Given the description of an element on the screen output the (x, y) to click on. 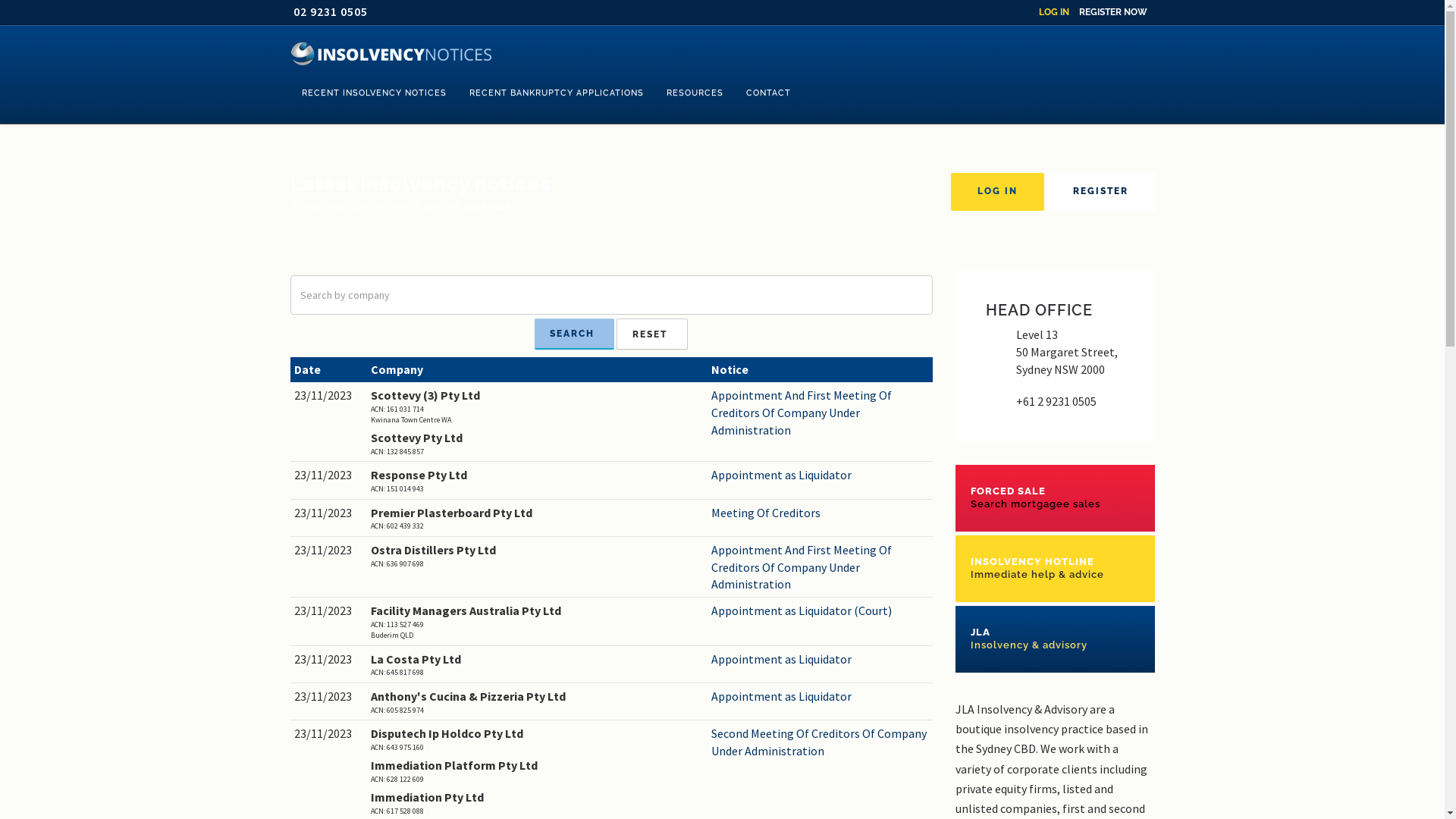
23/11/2023 Element type: text (329, 549)
Anthony's Cucina & Pizzeria Pty Ltd
ACN: 605 825 974 Element type: text (536, 701)
Appointment as Liquidator (Court) Element type: text (819, 610)
Second Meeting Of Creditors Of Company Under Administration Element type: text (819, 741)
REGISTER NOW Element type: text (1112, 11)
FORCED SALE  
Search mortgagee sales Element type: text (1054, 497)
RECENT INSOLVENCY NOTICES Element type: text (373, 92)
Appointment as Liquidator Element type: text (819, 659)
REGISTER Element type: text (1100, 191)
23/11/2023 Element type: text (329, 733)
La Costa Pty Ltd
ACN: 645 817 698 Element type: text (536, 664)
23/11/2023 Element type: text (329, 696)
Premier Plasterboard Pty Ltd
ACN: 602 439 332 Element type: text (536, 518)
LOG IN Element type: text (1053, 11)
23/11/2023 Element type: text (329, 659)
23/11/2023 Element type: text (329, 610)
Appointment as Liquidator Element type: text (819, 474)
RESOURCES Element type: text (694, 92)
INSOLVENCY HOTLINE  
Immediate help & advice Element type: text (1054, 568)
Appointment as Liquidator Element type: text (819, 696)
Search Element type: text (574, 333)
Response Pty Ltd
ACN: 151 014 943 Element type: text (536, 480)
LOG IN Element type: text (997, 191)
23/11/2023 Element type: text (329, 395)
Ostra Distillers Pty Ltd
ACN: 636 907 698 Element type: text (536, 555)
CONTACT Element type: text (767, 92)
JLA  
Insolvency & advisory Element type: text (1054, 638)
Meeting Of Creditors Element type: text (819, 512)
23/11/2023 Element type: text (329, 512)
23/11/2023 Element type: text (329, 474)
RECENT BANKRUPTCY APPLICATIONS Element type: text (556, 92)
